Given the description of an element on the screen output the (x, y) to click on. 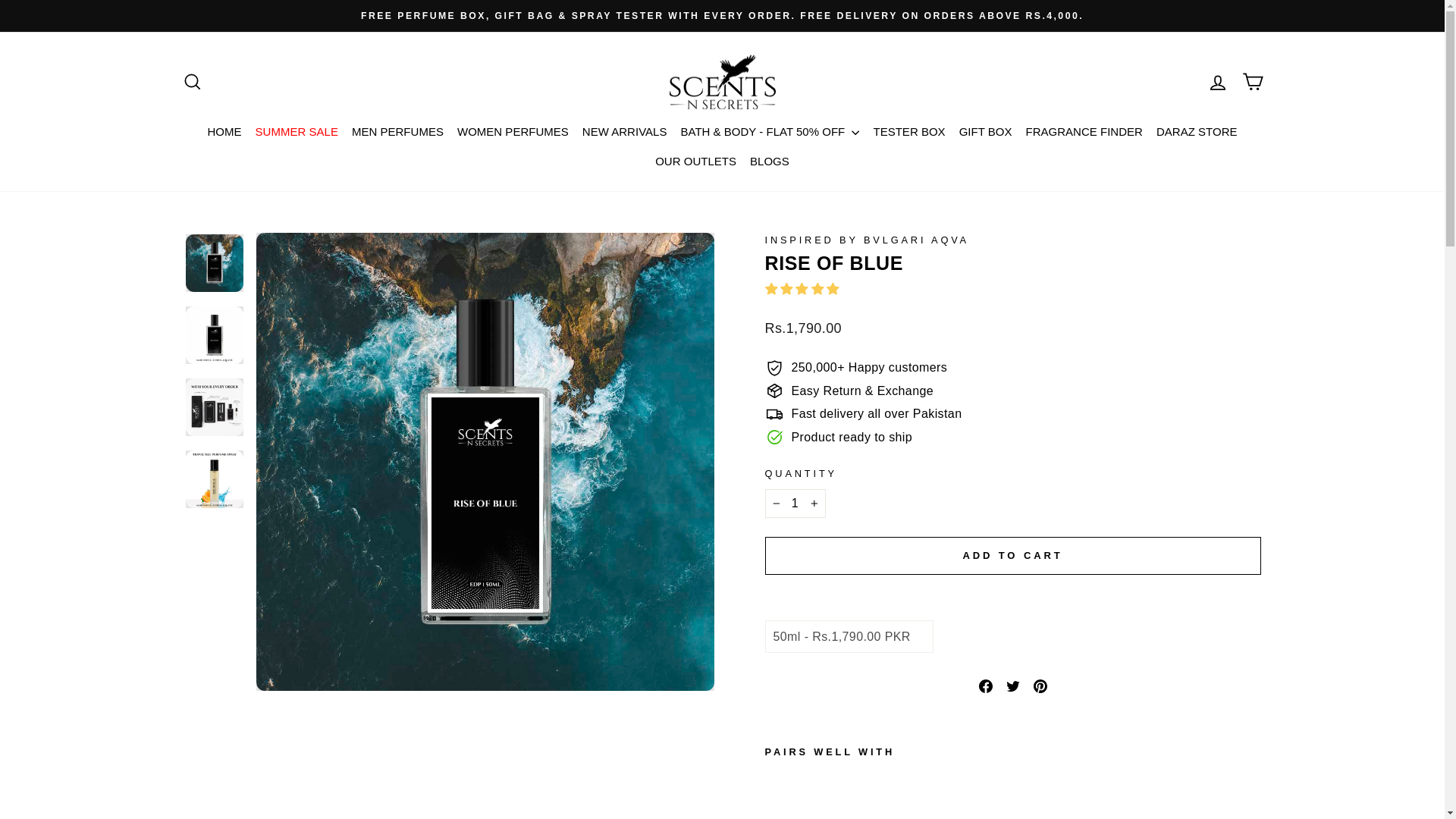
MEN PERFUMES (397, 131)
ICON-SEARCH (192, 81)
CART (1251, 82)
twitter (1012, 685)
ACCOUNT (191, 82)
1 (1217, 82)
SUMMER SALE (794, 502)
HOME (1216, 82)
